Given the description of an element on the screen output the (x, y) to click on. 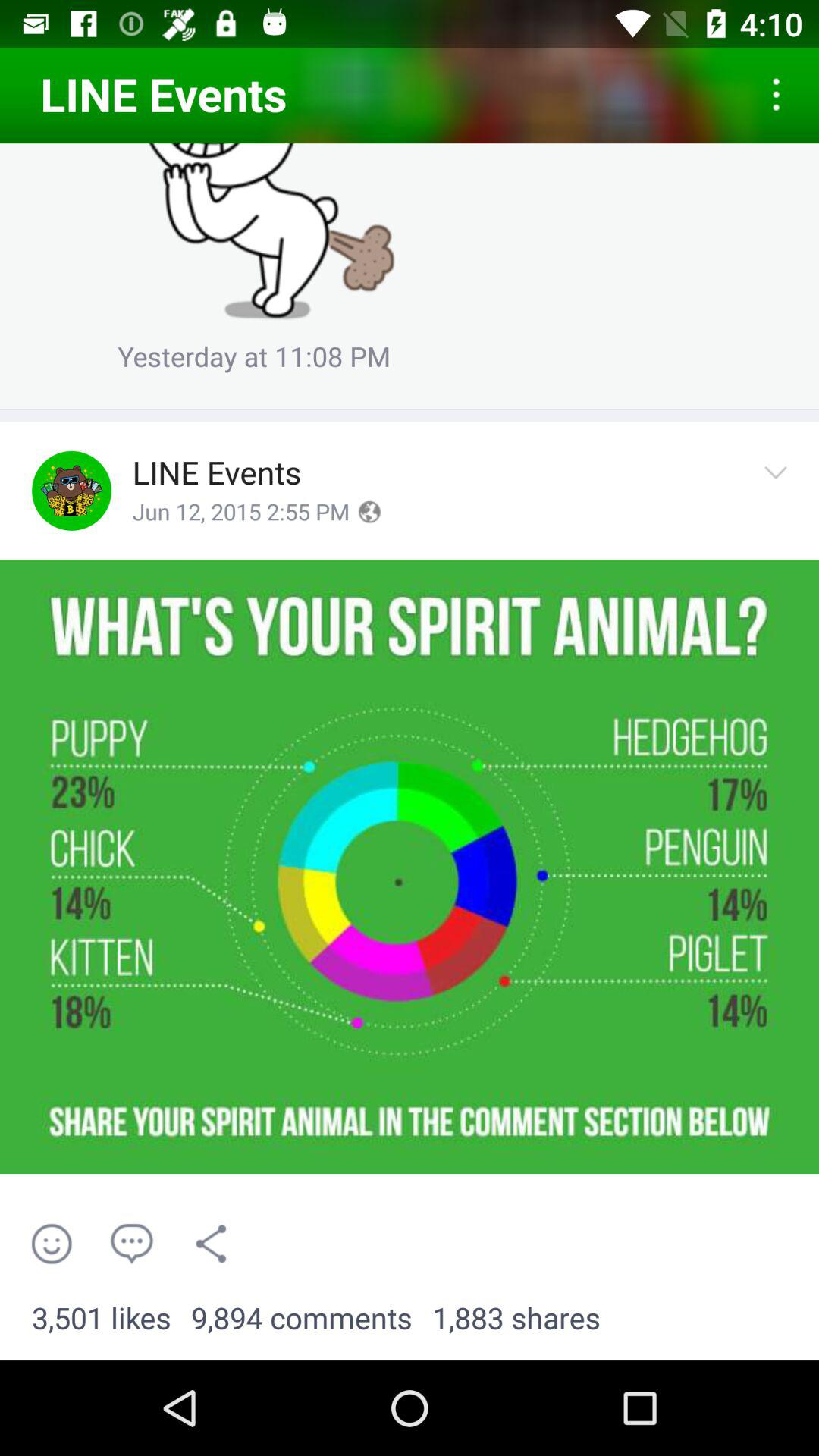
go to next (780, 490)
